Given the description of an element on the screen output the (x, y) to click on. 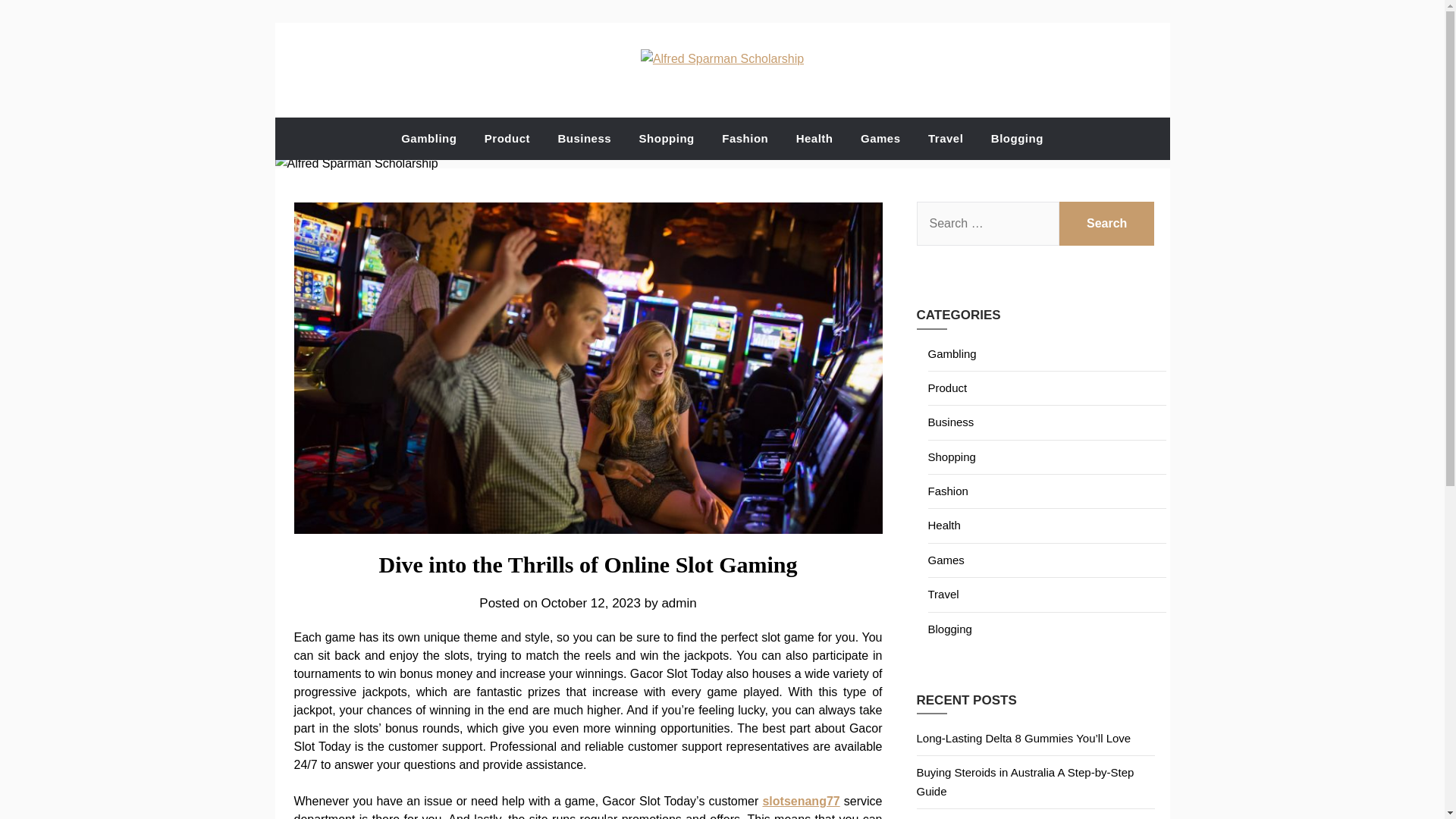
Search (1106, 223)
Business (951, 421)
admin (678, 603)
Blogging (950, 628)
Product (506, 137)
Business (583, 137)
Shopping (951, 456)
Gambling (952, 353)
slotsenang77 (800, 800)
Games (945, 559)
Games (880, 137)
Fashion (745, 137)
Buying Steroids in Australia A Step-by-Step Guide (1024, 780)
October 12, 2023 (590, 603)
Health (814, 137)
